Given the description of an element on the screen output the (x, y) to click on. 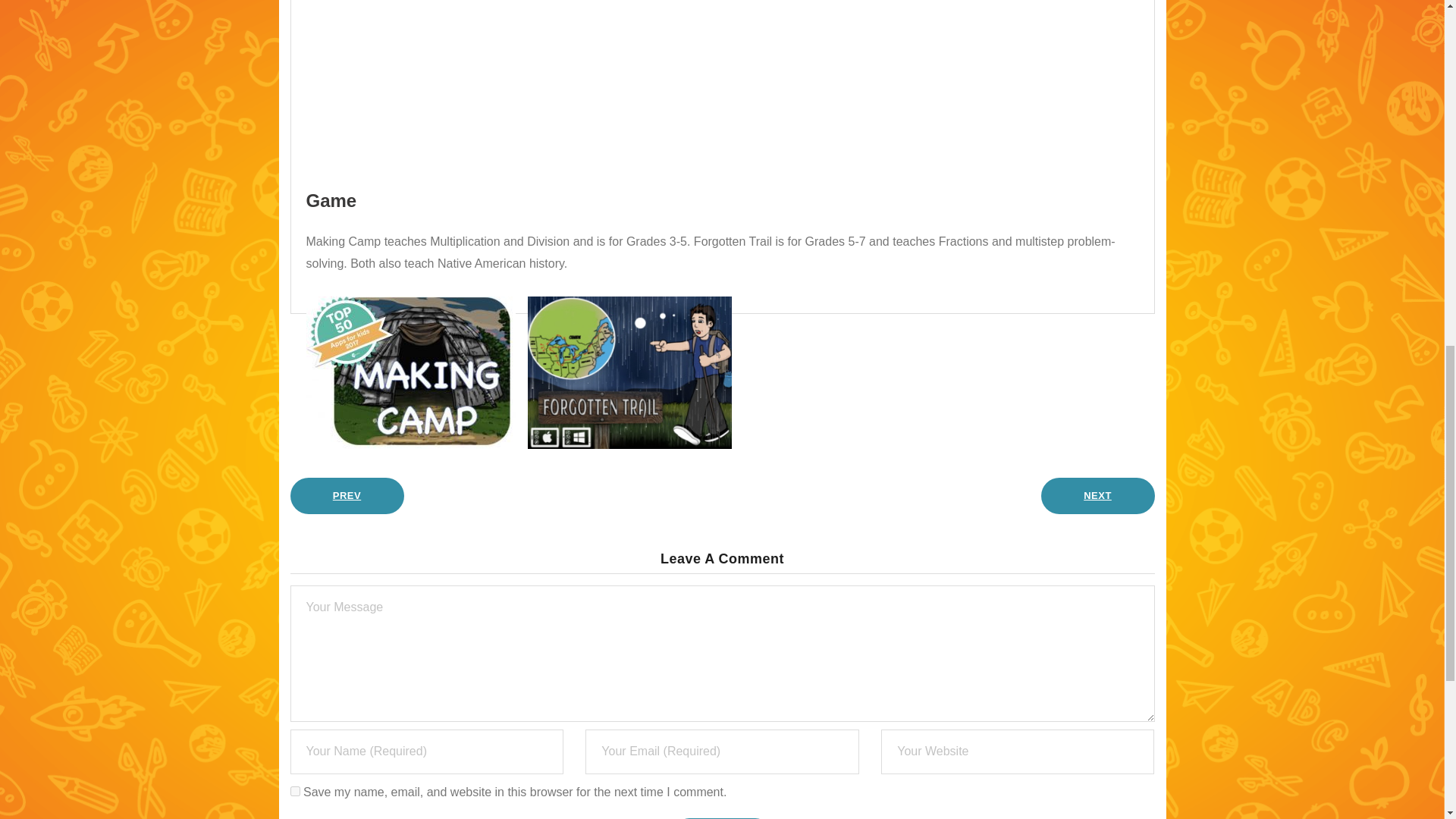
yes (294, 791)
